Given the description of an element on the screen output the (x, y) to click on. 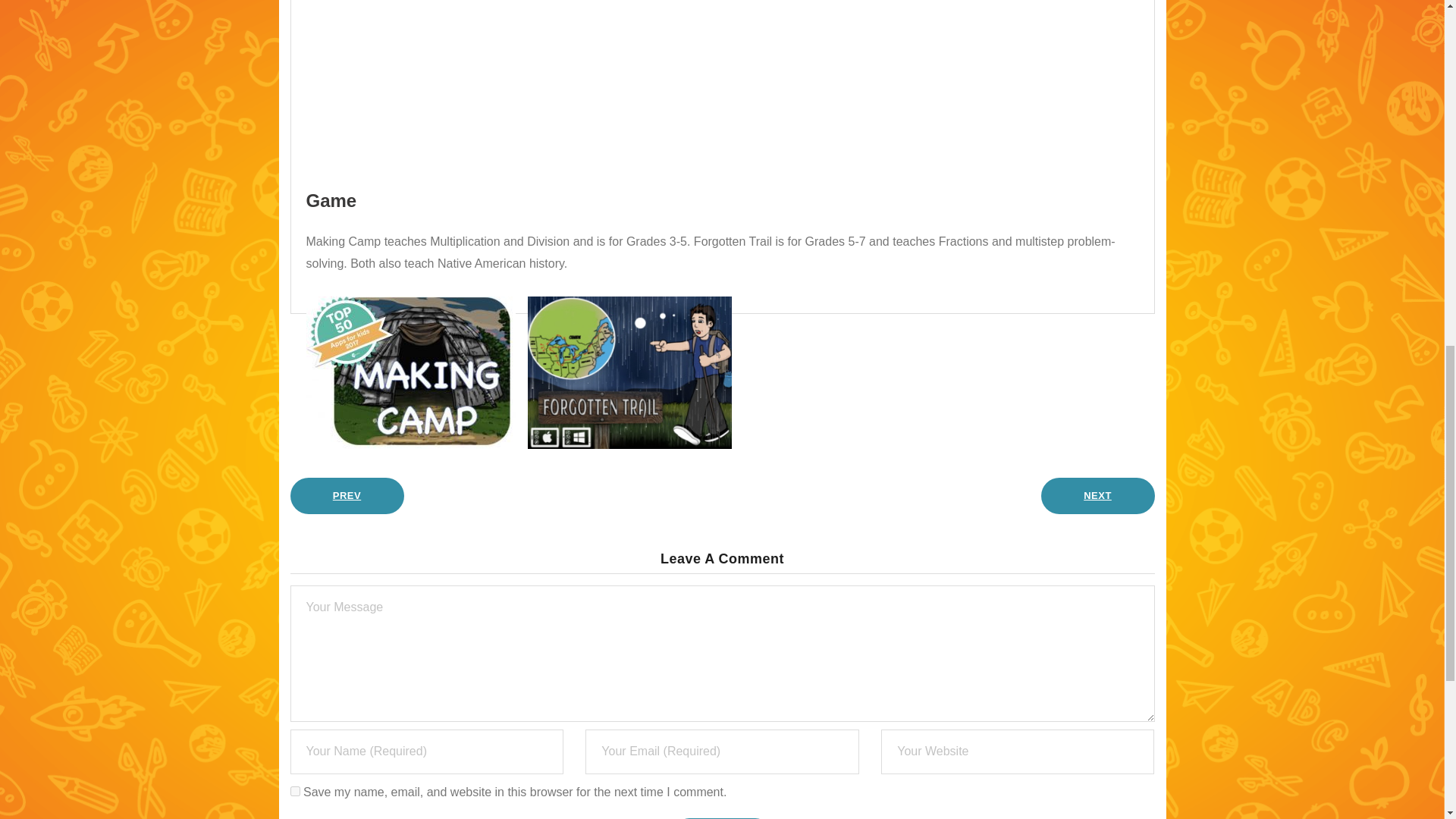
yes (294, 791)
